Given the description of an element on the screen output the (x, y) to click on. 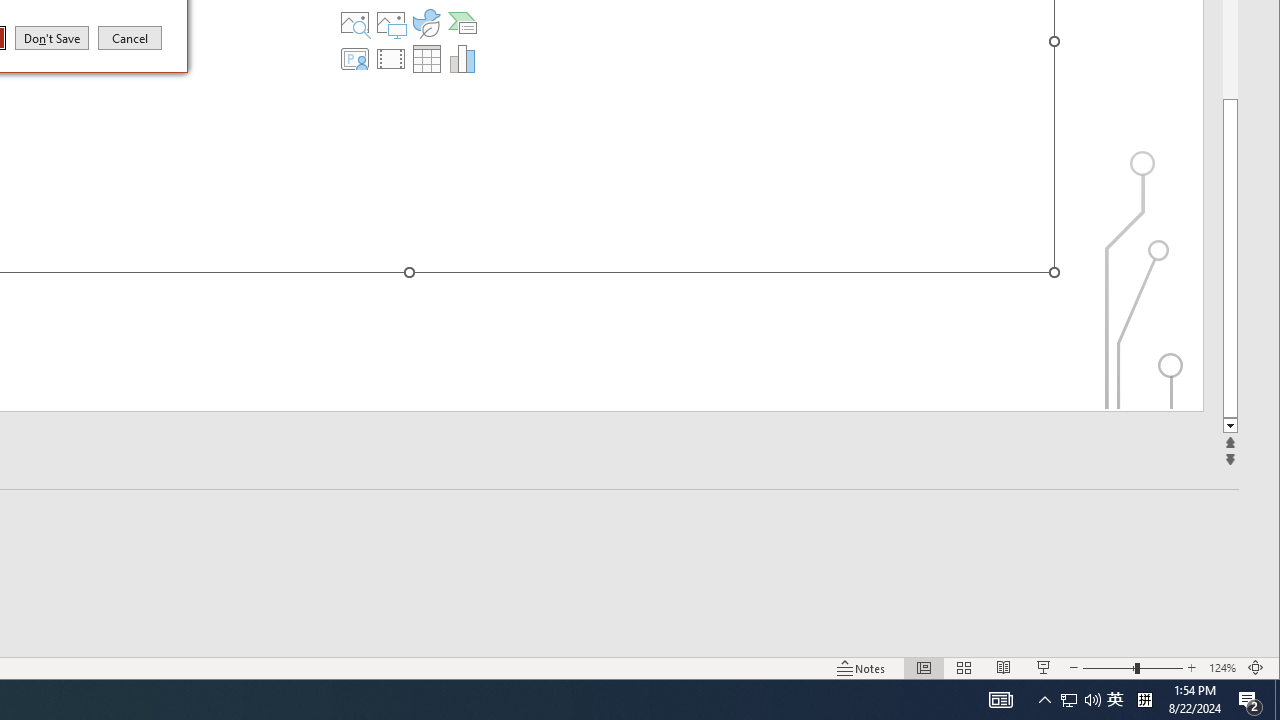
Action Center, 2 new notifications (1250, 699)
